Given the description of an element on the screen output the (x, y) to click on. 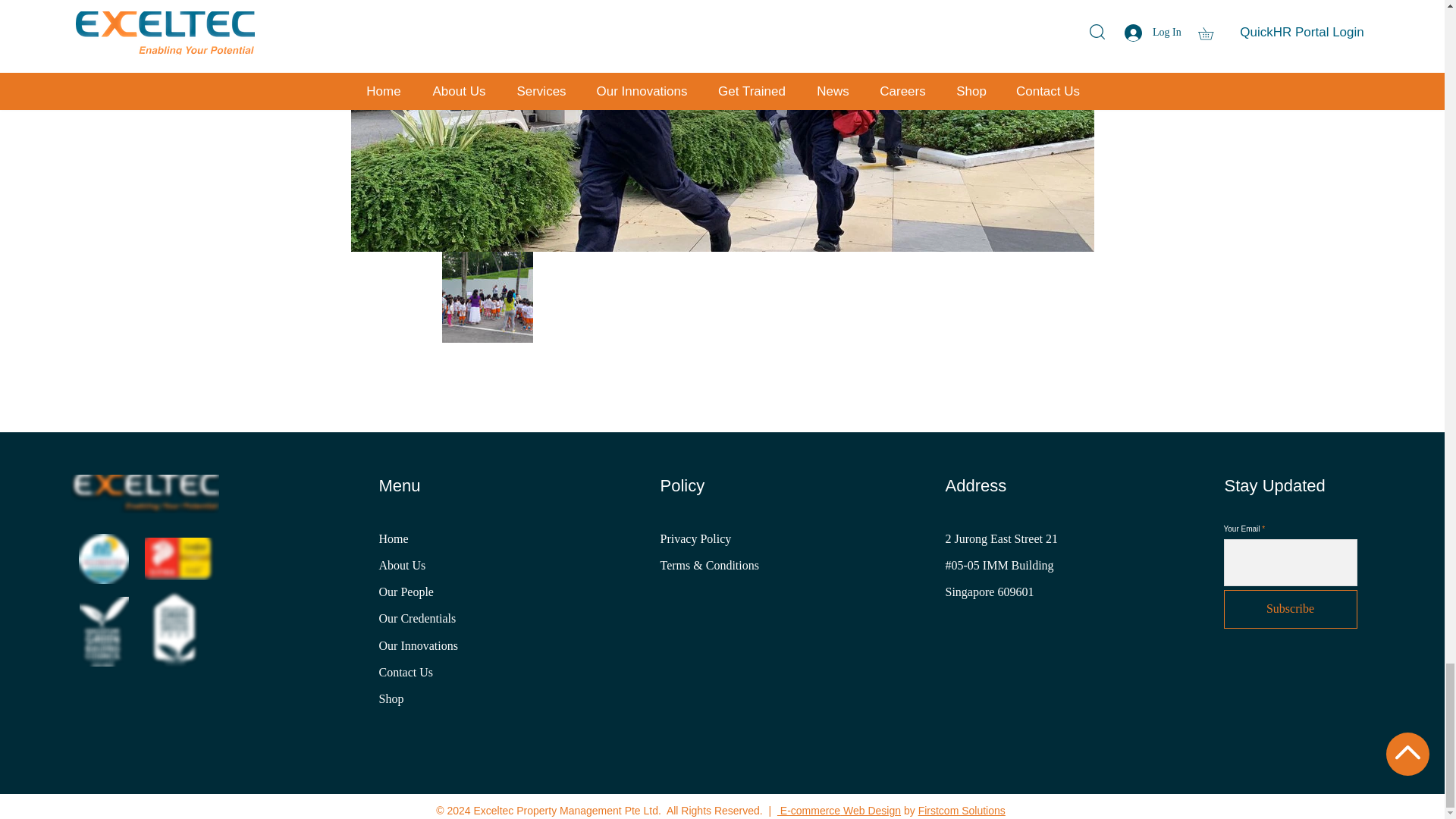
Privacy Policy  (696, 538)
Our Credentials (417, 617)
Our Innovations (418, 645)
Our People (405, 591)
Shop (391, 698)
Home  (395, 538)
exceltec-logo.png (143, 494)
Contact Us (405, 671)
About Us (402, 564)
